Given the description of an element on the screen output the (x, y) to click on. 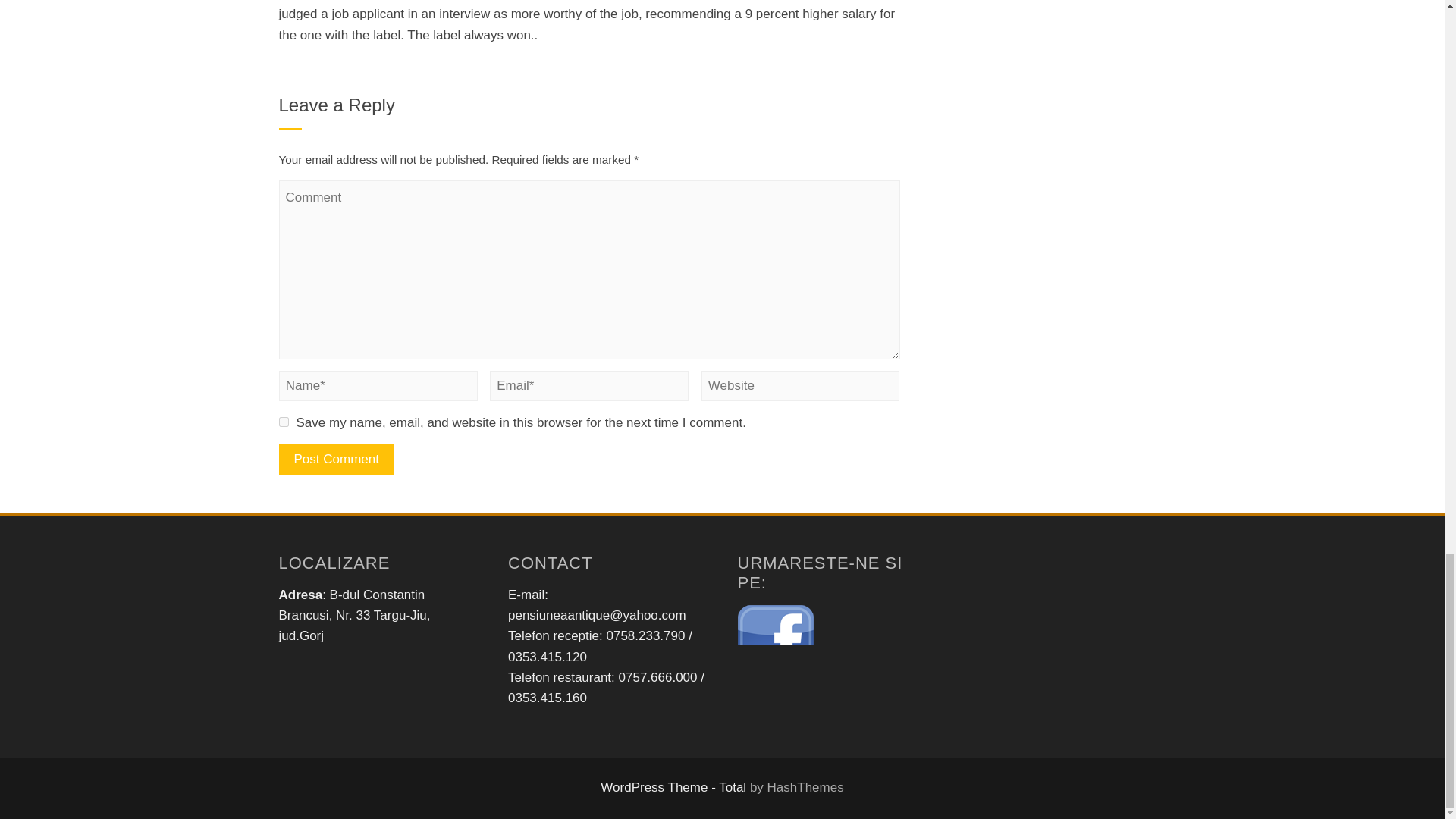
yes (283, 421)
Post Comment (336, 459)
Post Comment (336, 459)
WordPress Theme - Total (672, 787)
